Given the description of an element on the screen output the (x, y) to click on. 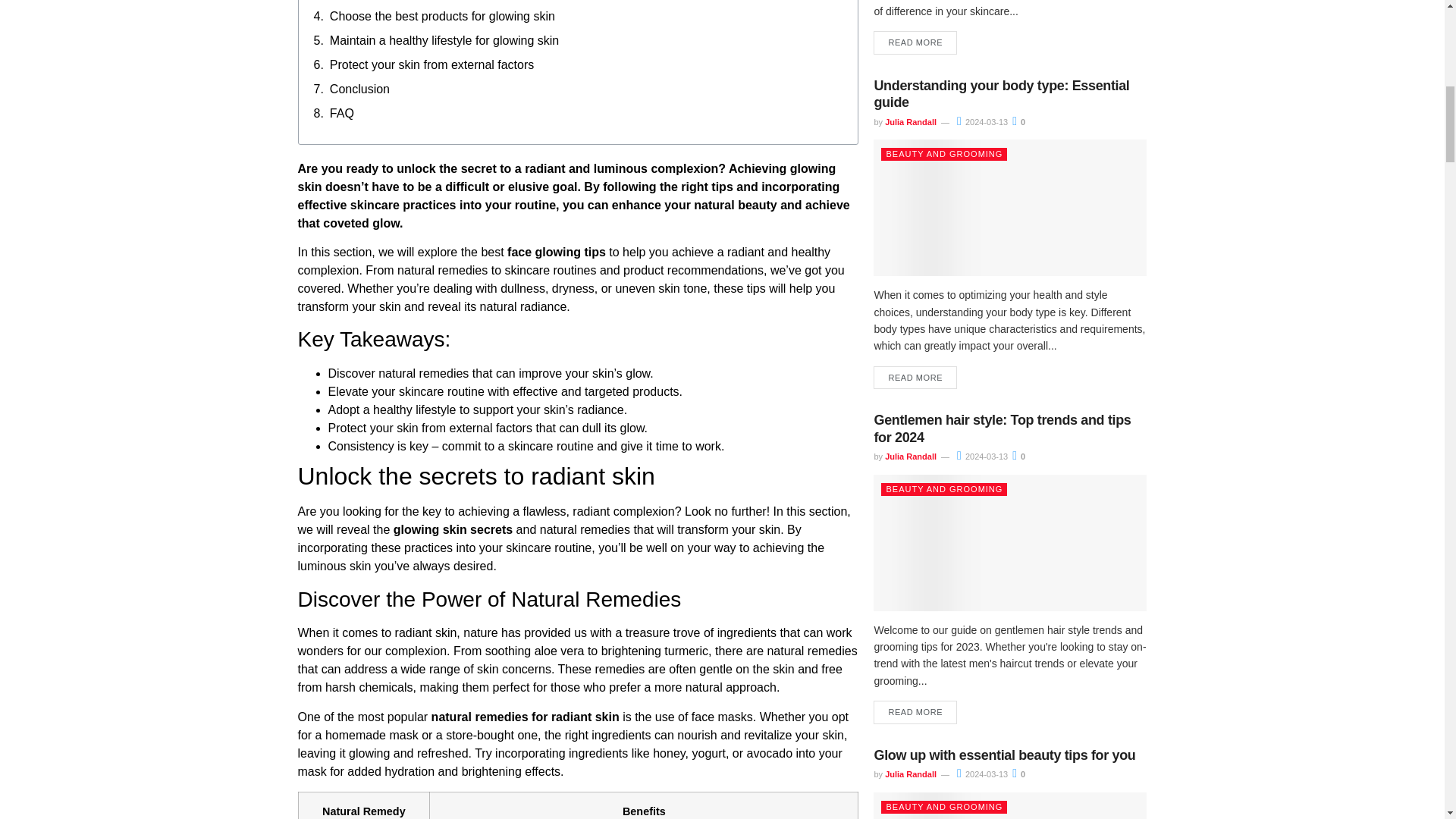
Conclusion (360, 89)
Protect your skin from external factors (432, 65)
FAQ (341, 113)
Choose the best products for glowing skin (442, 16)
Maintain a healthy lifestyle for glowing skin (444, 40)
